Given the description of an element on the screen output the (x, y) to click on. 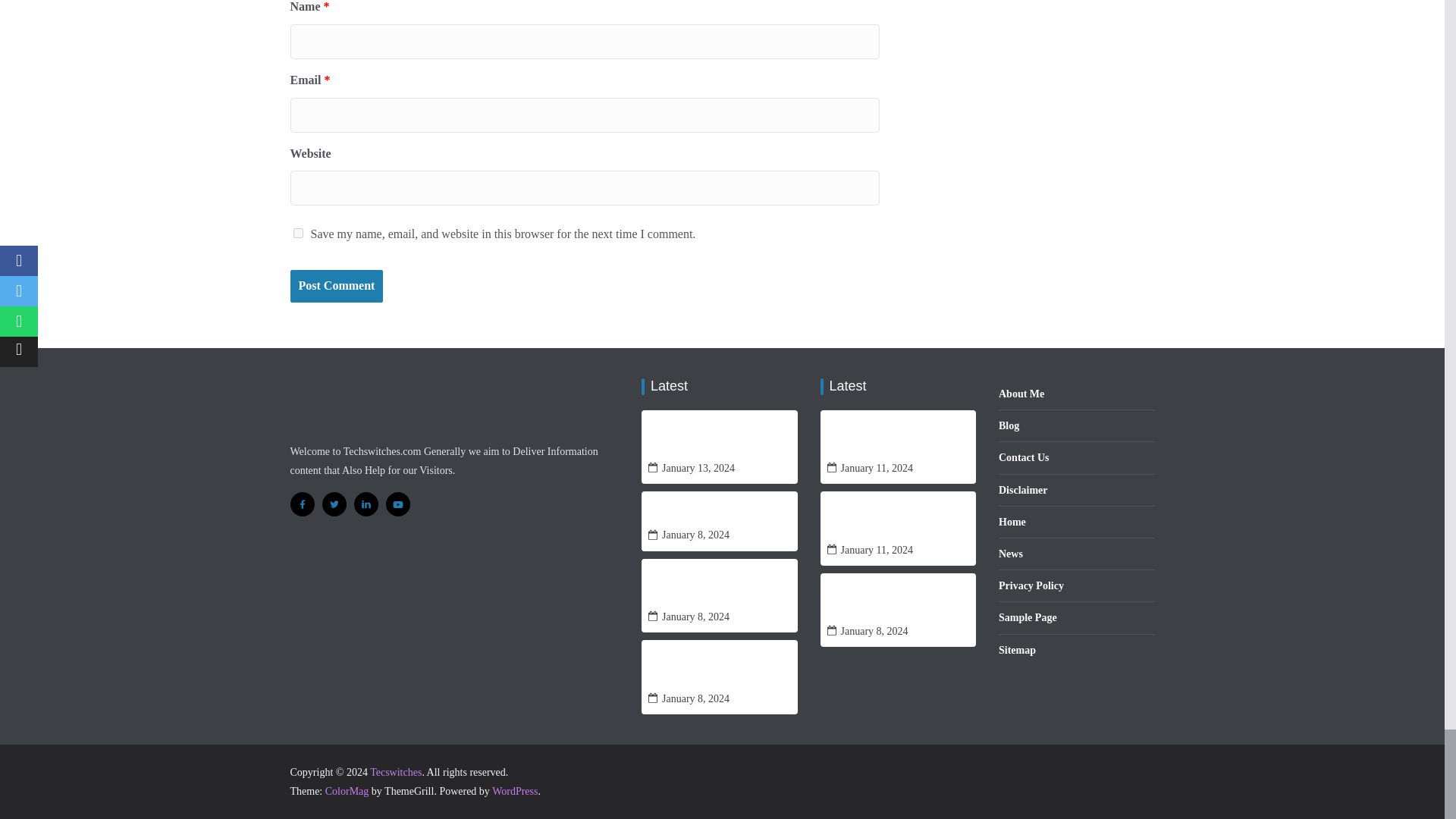
ColorMag (346, 790)
yes (297, 233)
Post Comment (335, 286)
Tecswitches (395, 772)
WordPress (514, 790)
Post Comment (335, 286)
